Given the description of an element on the screen output the (x, y) to click on. 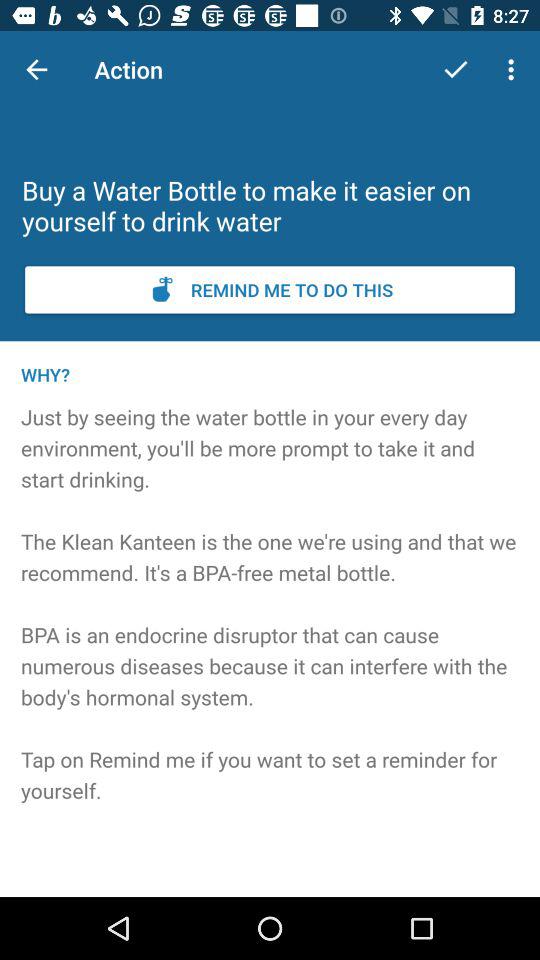
turn on item above the buy a water icon (36, 69)
